Given the description of an element on the screen output the (x, y) to click on. 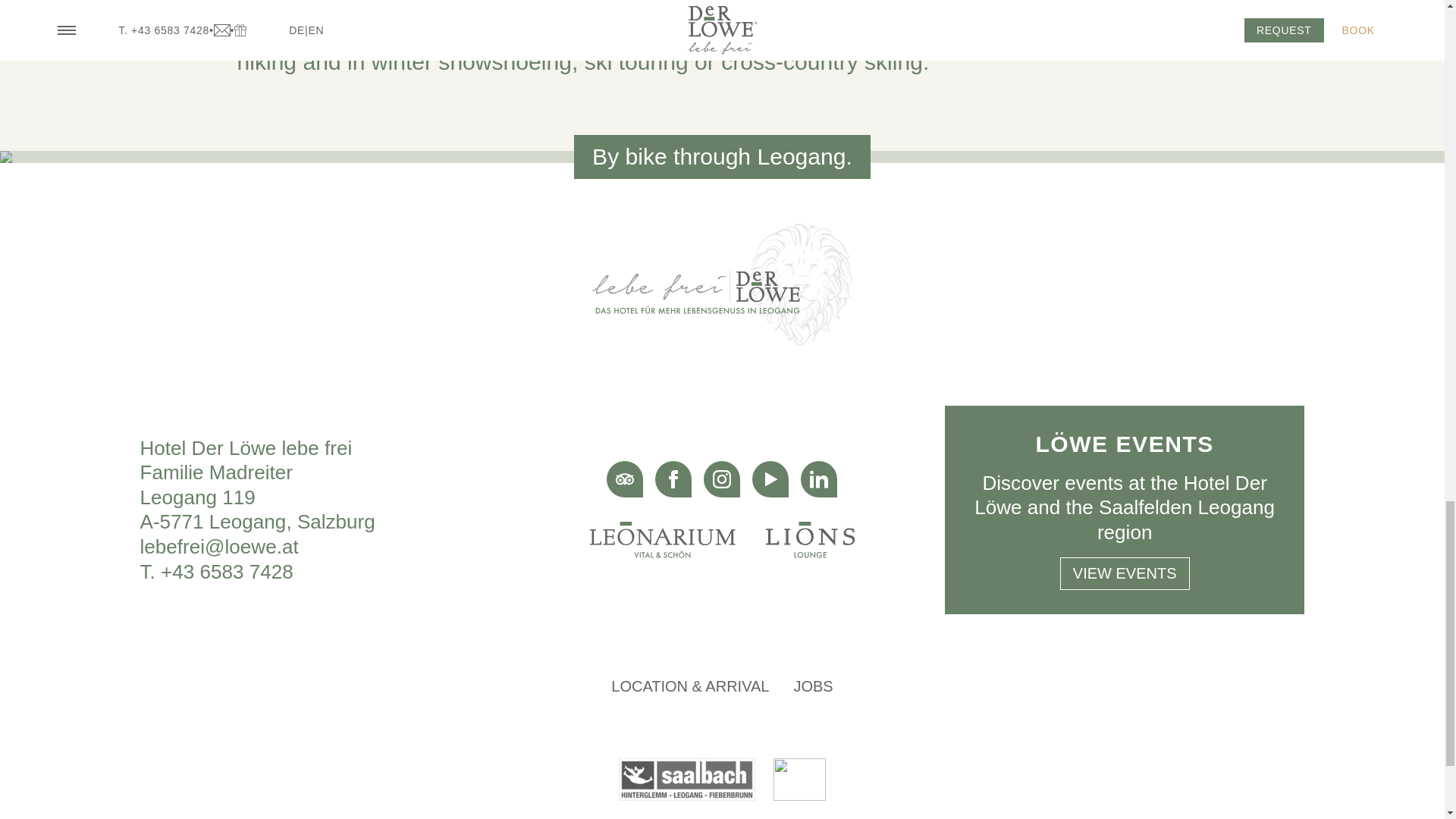
JOBS (812, 685)
VIEW EVENTS (1124, 573)
